Given the description of an element on the screen output the (x, y) to click on. 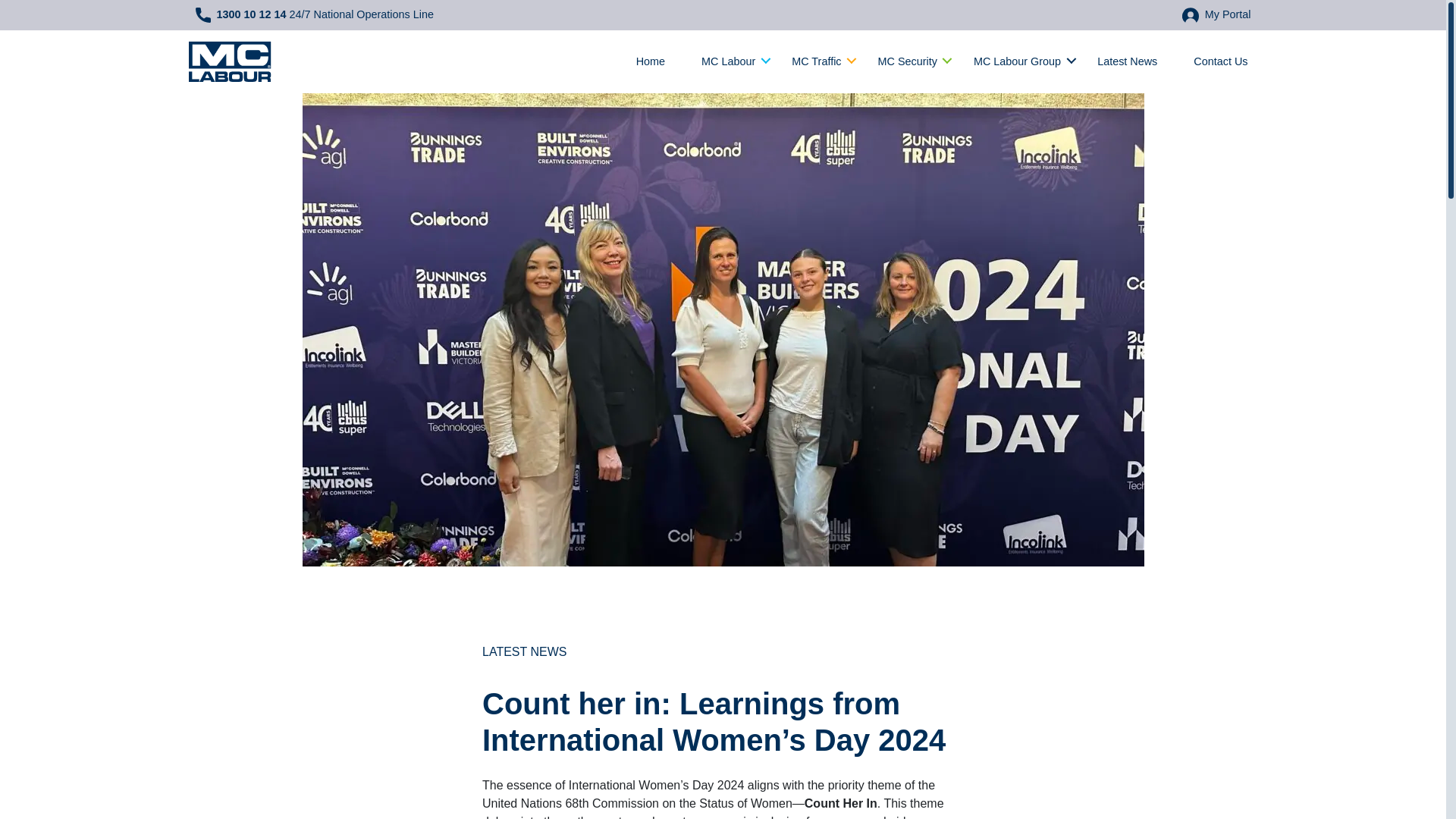
MC Labour Group (1016, 60)
Home (649, 60)
Latest News (1126, 60)
My Portal (1216, 14)
MC Security (907, 60)
MC Traffic (816, 60)
Skip to content (40, 8)
MC Labour (727, 60)
Contact Us (1216, 60)
LATEST NEWS (523, 651)
